Given the description of an element on the screen output the (x, y) to click on. 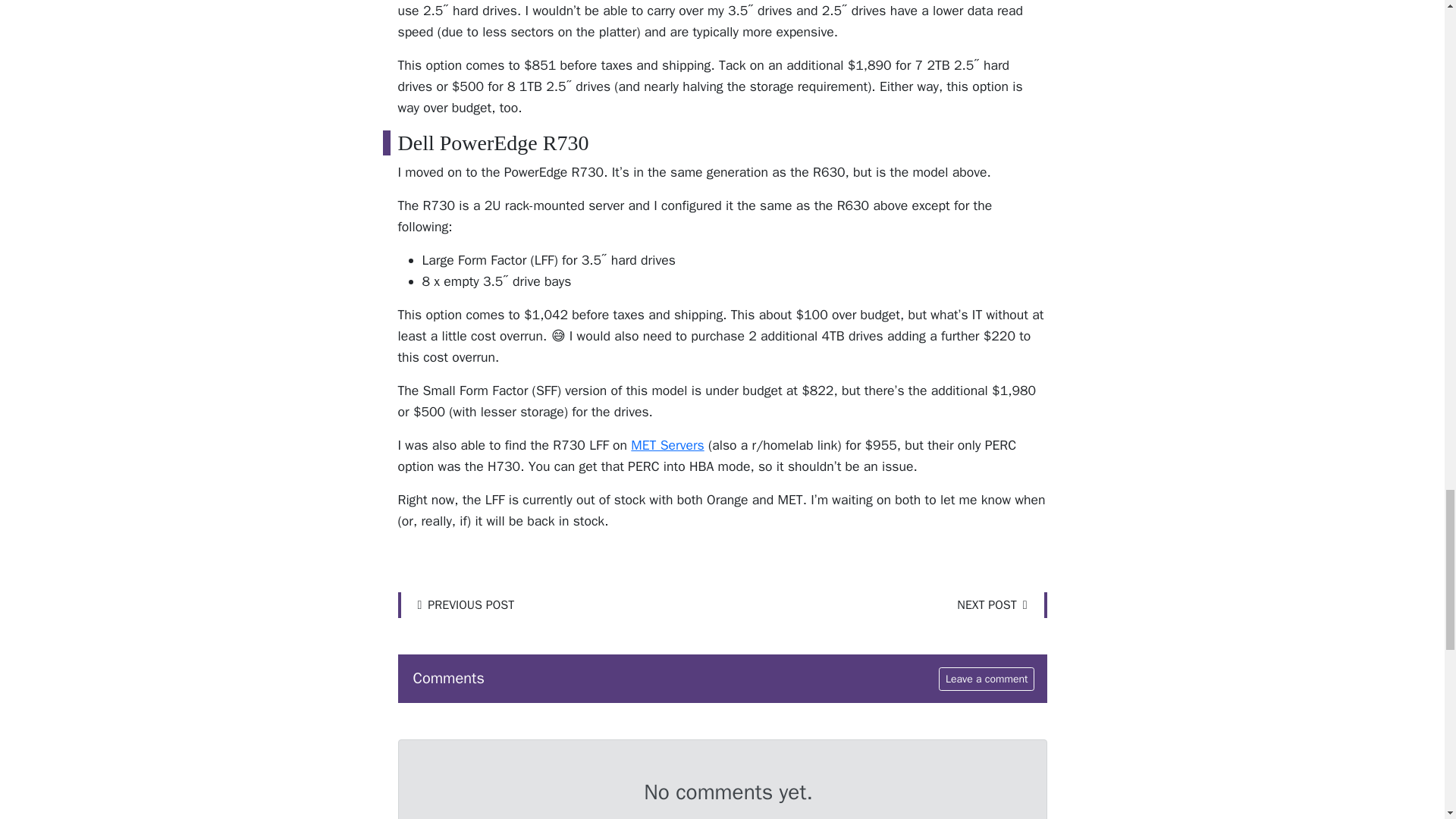
Leave a comment (987, 679)
PREVIOUS POST (460, 605)
MET Servers (666, 444)
NEXT POST (996, 605)
